Given the description of an element on the screen output the (x, y) to click on. 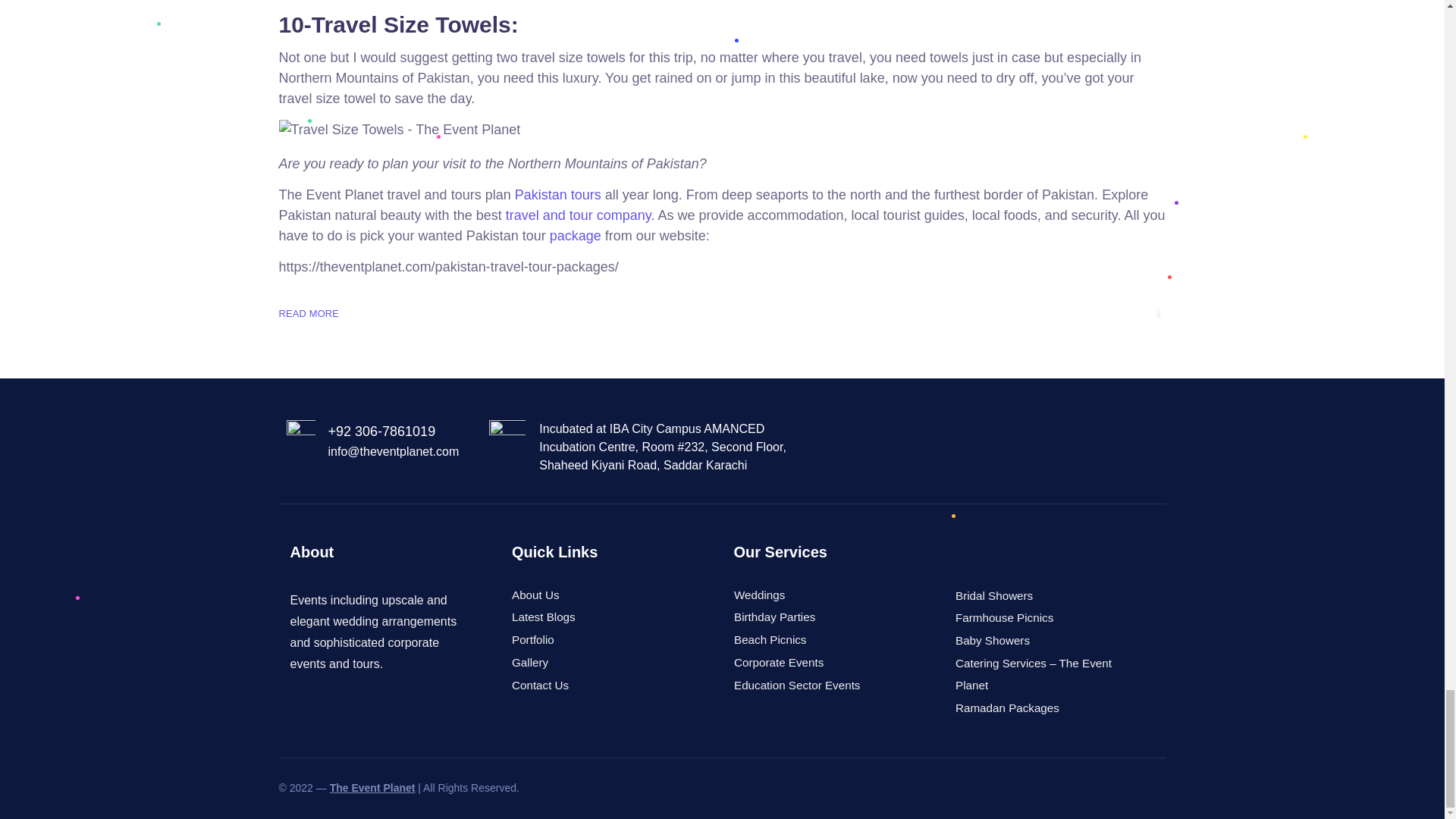
Location (507, 437)
